Given the description of an element on the screen output the (x, y) to click on. 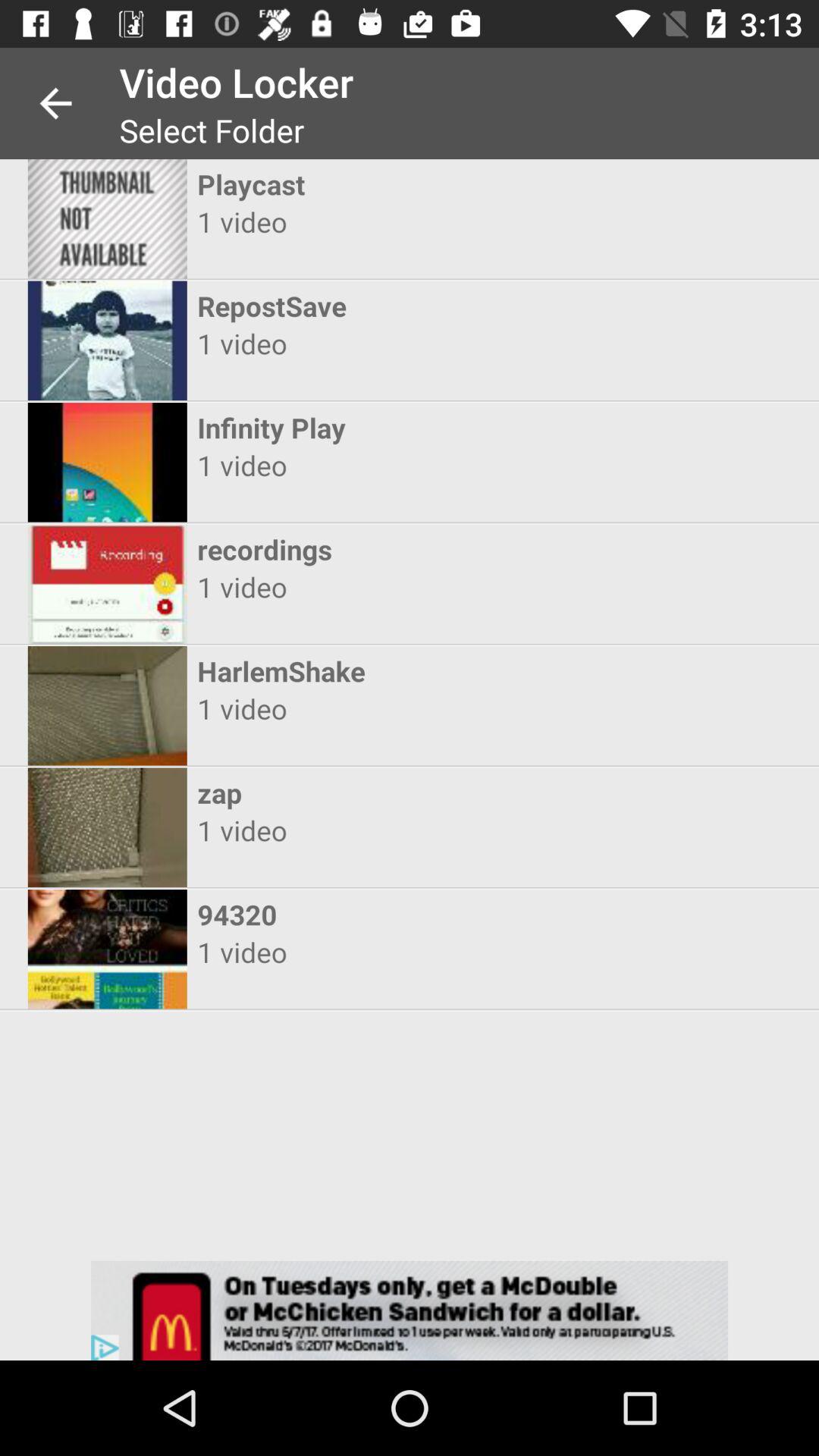
select the icon below 1 video item (396, 427)
